Given the description of an element on the screen output the (x, y) to click on. 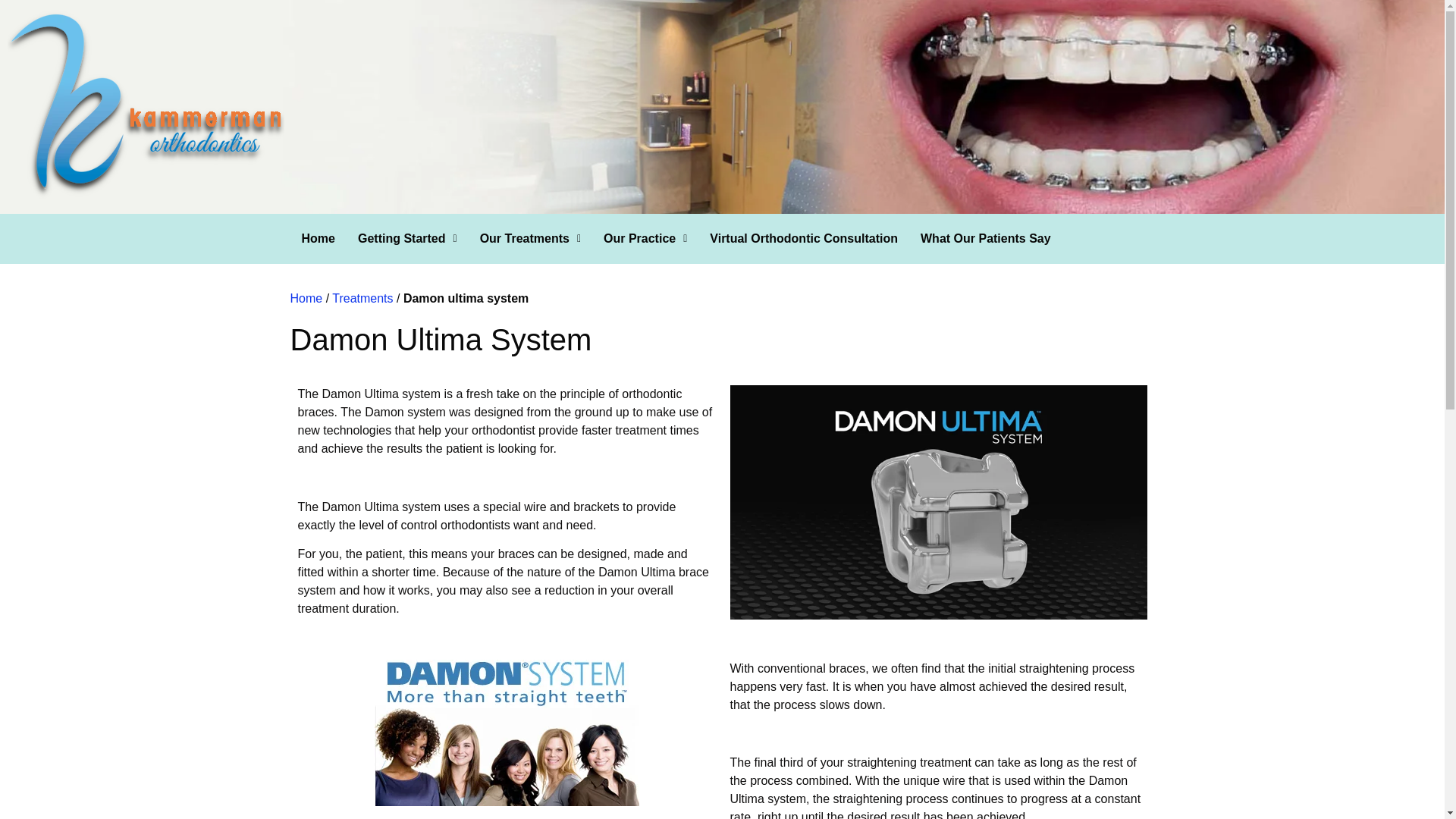
Our Practice (645, 238)
What Our Patients Say (985, 238)
Getting Started (407, 238)
Our Treatments (530, 238)
Home (317, 238)
Home (305, 297)
Treatments (362, 297)
Virtual Orthodontic Consultation (803, 238)
